Given the description of an element on the screen output the (x, y) to click on. 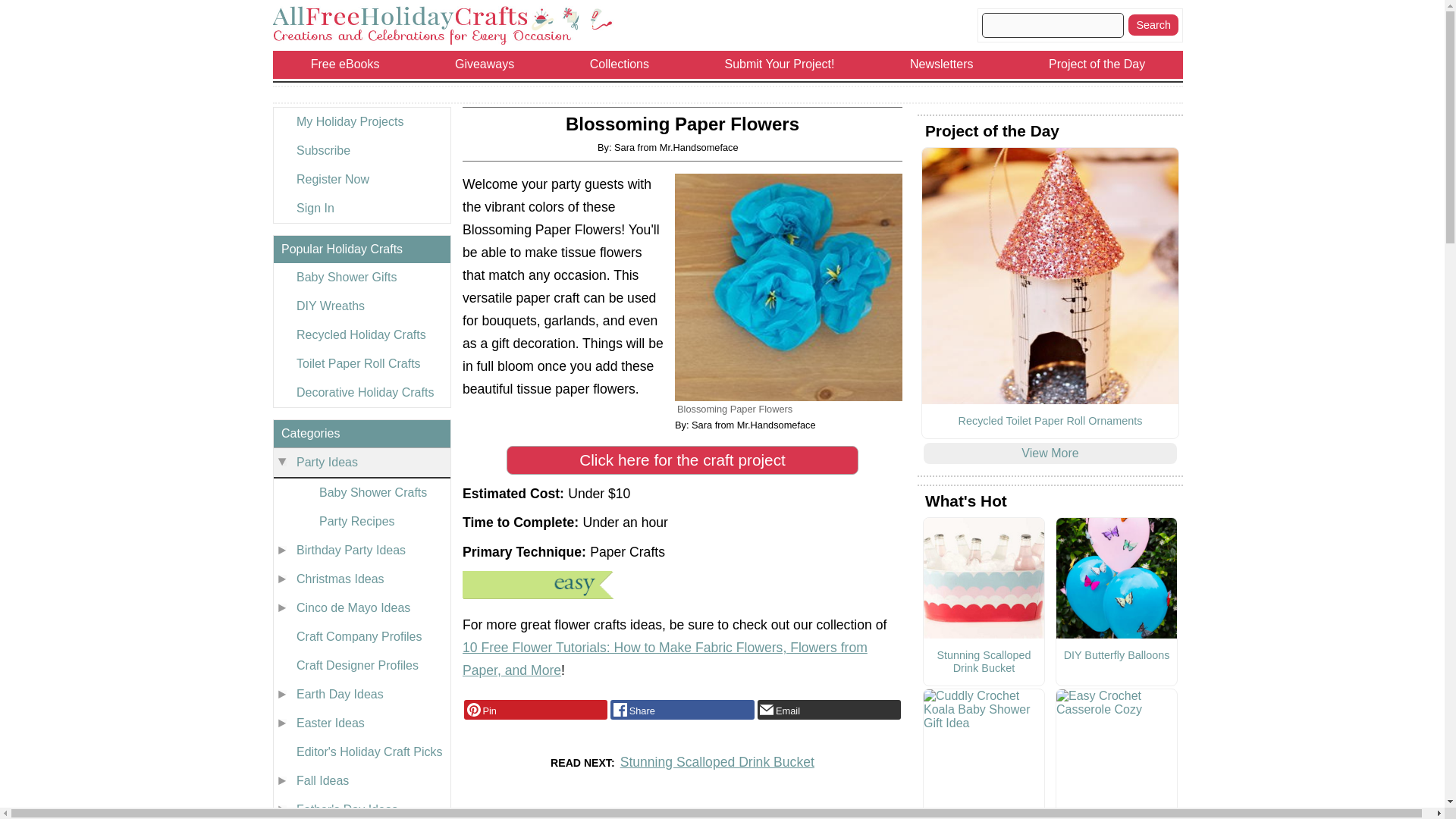
Email (829, 709)
My Holiday Projects (361, 121)
Facebook (682, 709)
Register Now (361, 179)
Sign In (361, 208)
Blossoming Paper Flowers (788, 287)
Search (1152, 25)
Subscribe (361, 150)
